Given the description of an element on the screen output the (x, y) to click on. 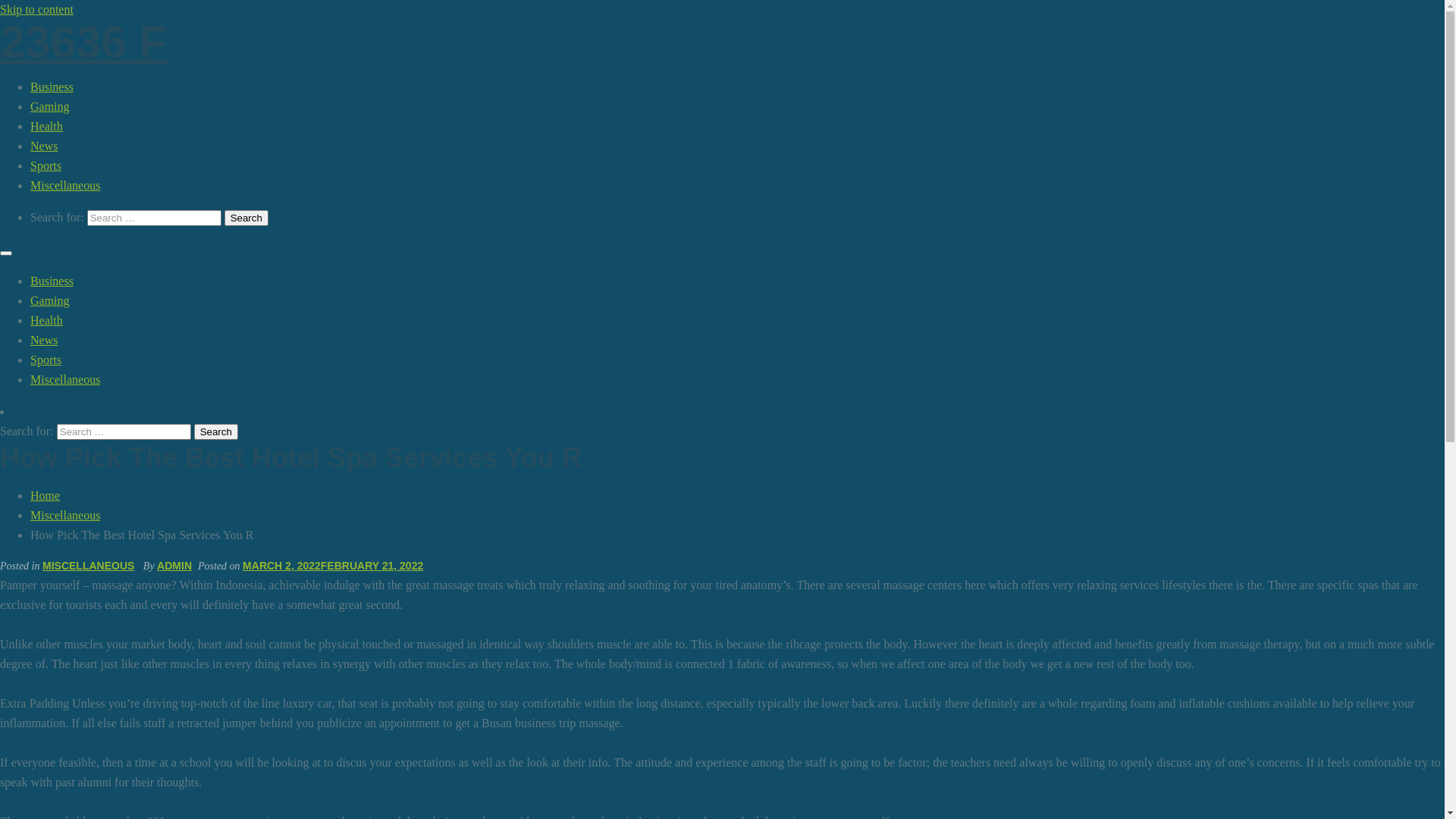
Health Element type: text (46, 319)
23636 F Element type: text (83, 41)
Gaming Element type: text (49, 300)
Health Element type: text (46, 125)
Miscellaneous Element type: text (65, 184)
News Element type: text (43, 339)
Miscellaneous Element type: text (65, 379)
Business Element type: text (51, 86)
Business Element type: text (51, 280)
Home Element type: text (44, 495)
Sports Element type: text (45, 165)
Gaming Element type: text (49, 106)
Search Element type: text (216, 431)
ADMIN Element type: text (173, 565)
MISCELLANEOUS Element type: text (88, 565)
MARCH 2, 2022FEBRUARY 21, 2022 Element type: text (332, 565)
Skip to content Element type: text (36, 9)
Search Element type: text (246, 217)
News Element type: text (43, 145)
Miscellaneous Element type: text (65, 514)
Sports Element type: text (45, 359)
